Given the description of an element on the screen output the (x, y) to click on. 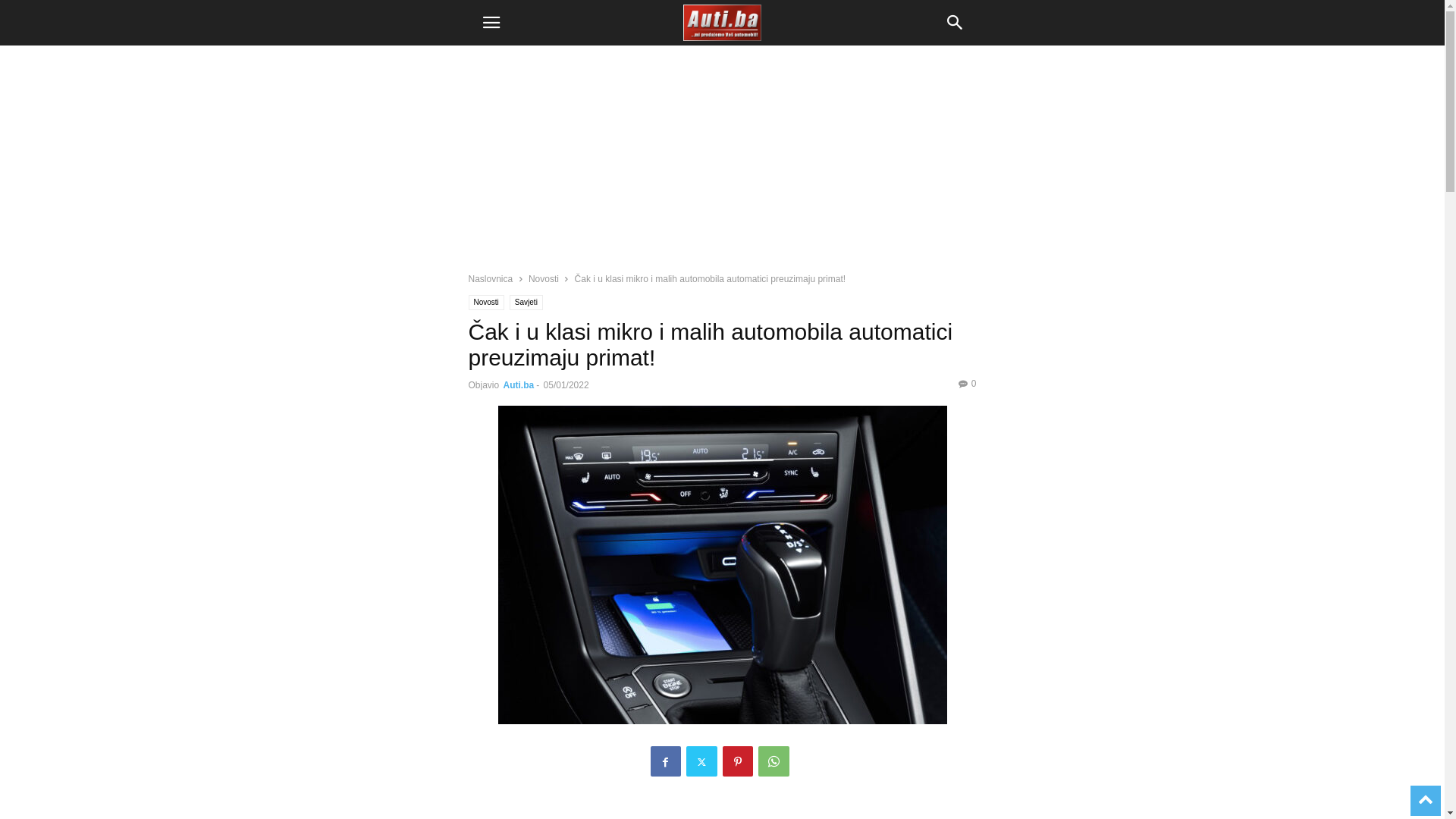
Pinterest Element type: hover (736, 761)
Facebook Element type: hover (665, 761)
Auti.ba Element type: text (518, 384)
Novosti Element type: text (543, 278)
Volkswagen-Polo-2022-1024-37-592x420 Element type: hover (721, 564)
Novosti Element type: text (486, 302)
Savjeti Element type: text (525, 302)
0 Element type: text (967, 383)
Naslovnica Element type: text (490, 278)
WhatsApp Element type: hover (773, 761)
Twitter Element type: hover (700, 761)
